Given the description of an element on the screen output the (x, y) to click on. 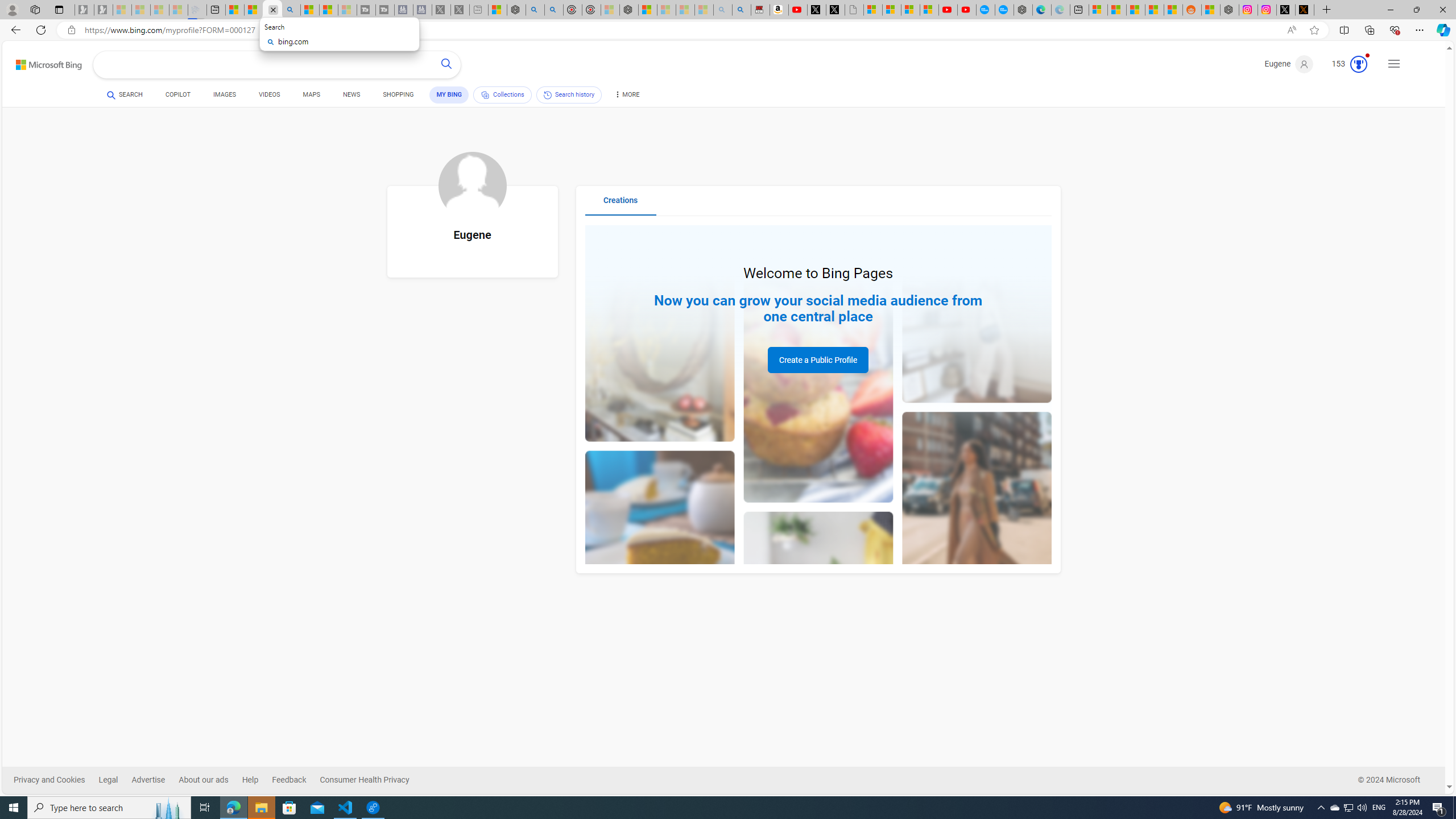
About our ads (210, 780)
The most popular Google 'how to' searches (1004, 9)
Consumer Health Privacy (364, 779)
Microsoft account | Microsoft Account Privacy Settings (1098, 9)
Class: medal-circled (1358, 63)
Amazon Echo Dot PNG - Search Images (741, 9)
MAPS (311, 96)
SEARCH (124, 94)
